Given the description of an element on the screen output the (x, y) to click on. 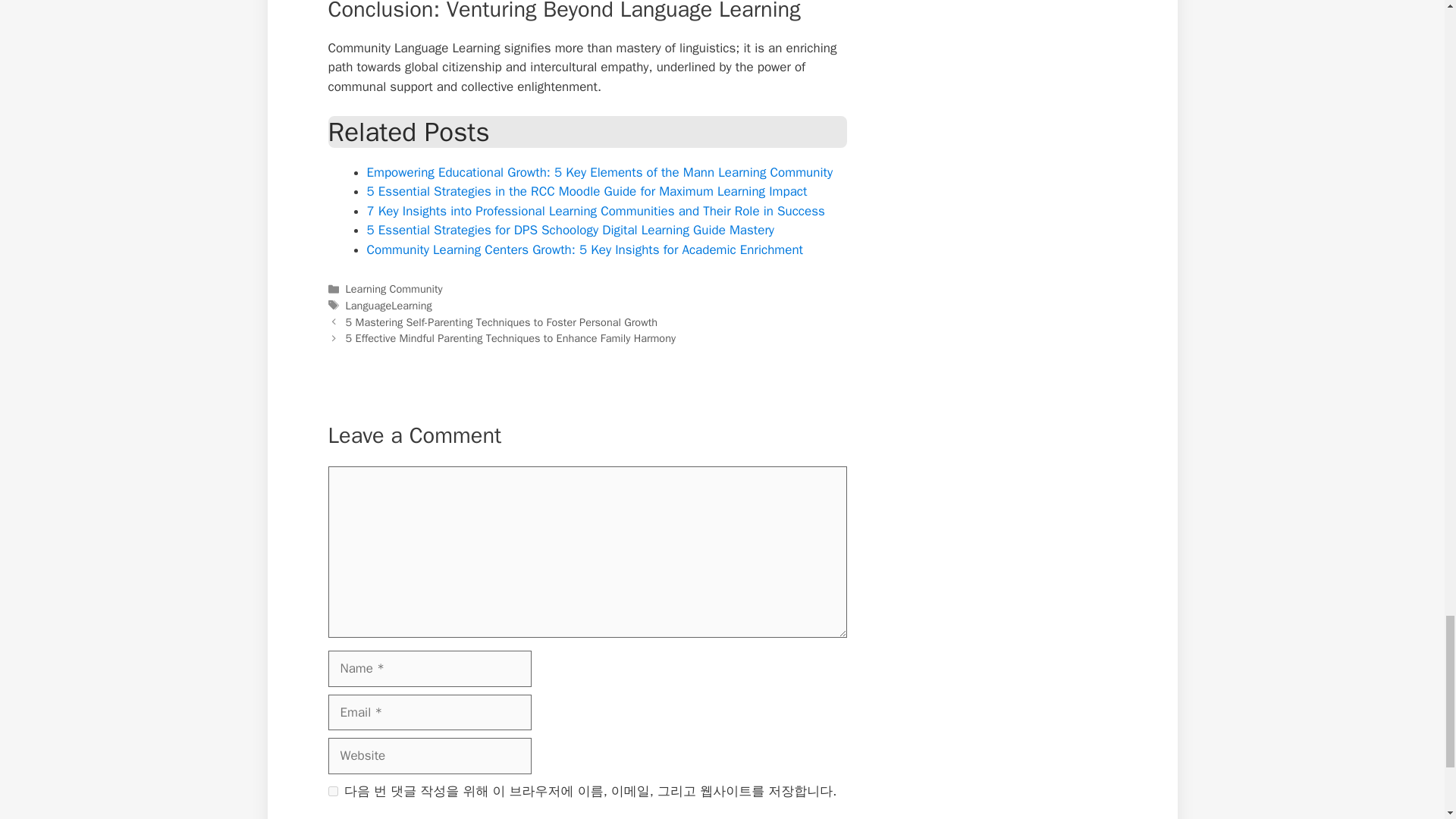
yes (332, 791)
LanguageLearning (389, 305)
Learning Community (394, 288)
